Given the description of an element on the screen output the (x, y) to click on. 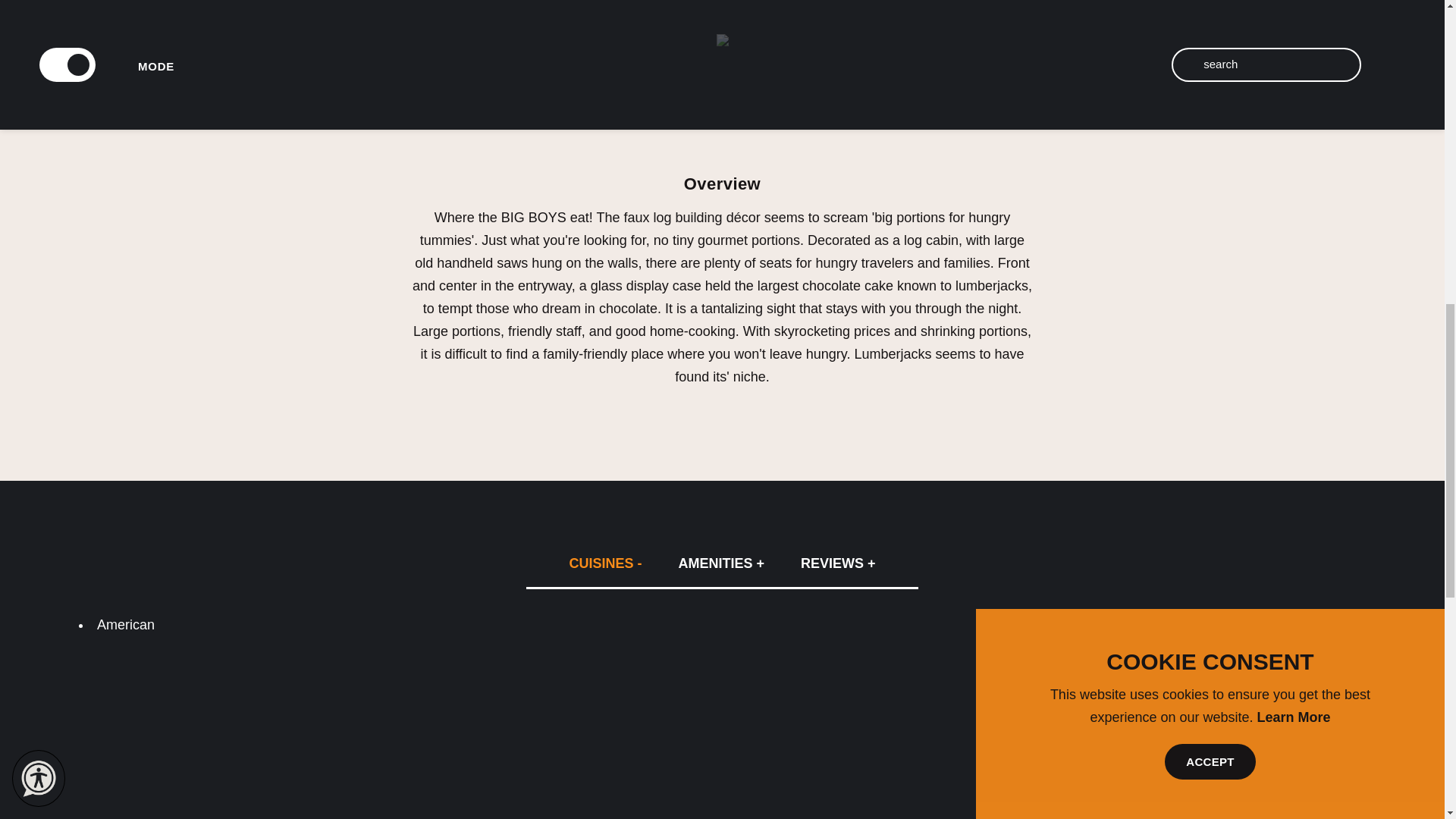
AMENITIES (721, 563)
REVIEWS (838, 563)
CUISINES (604, 563)
